Given the description of an element on the screen output the (x, y) to click on. 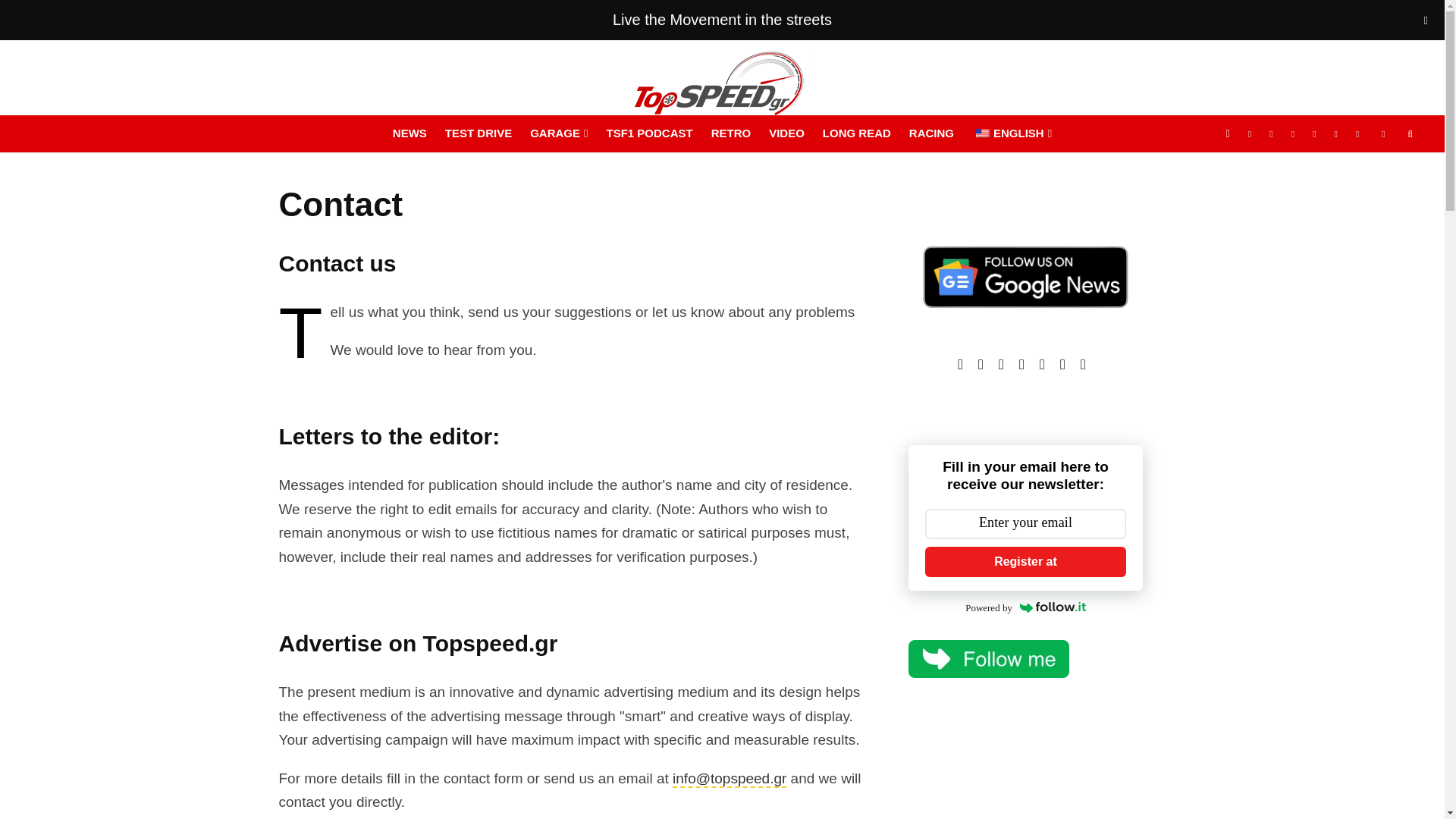
GARAGE (558, 133)
Live the Movement in the streets (721, 19)
NEWS (409, 133)
TEST DRIVE (478, 133)
Live the Movement in the streets (721, 19)
TSF1 PODCAST (648, 133)
